Given the description of an element on the screen output the (x, y) to click on. 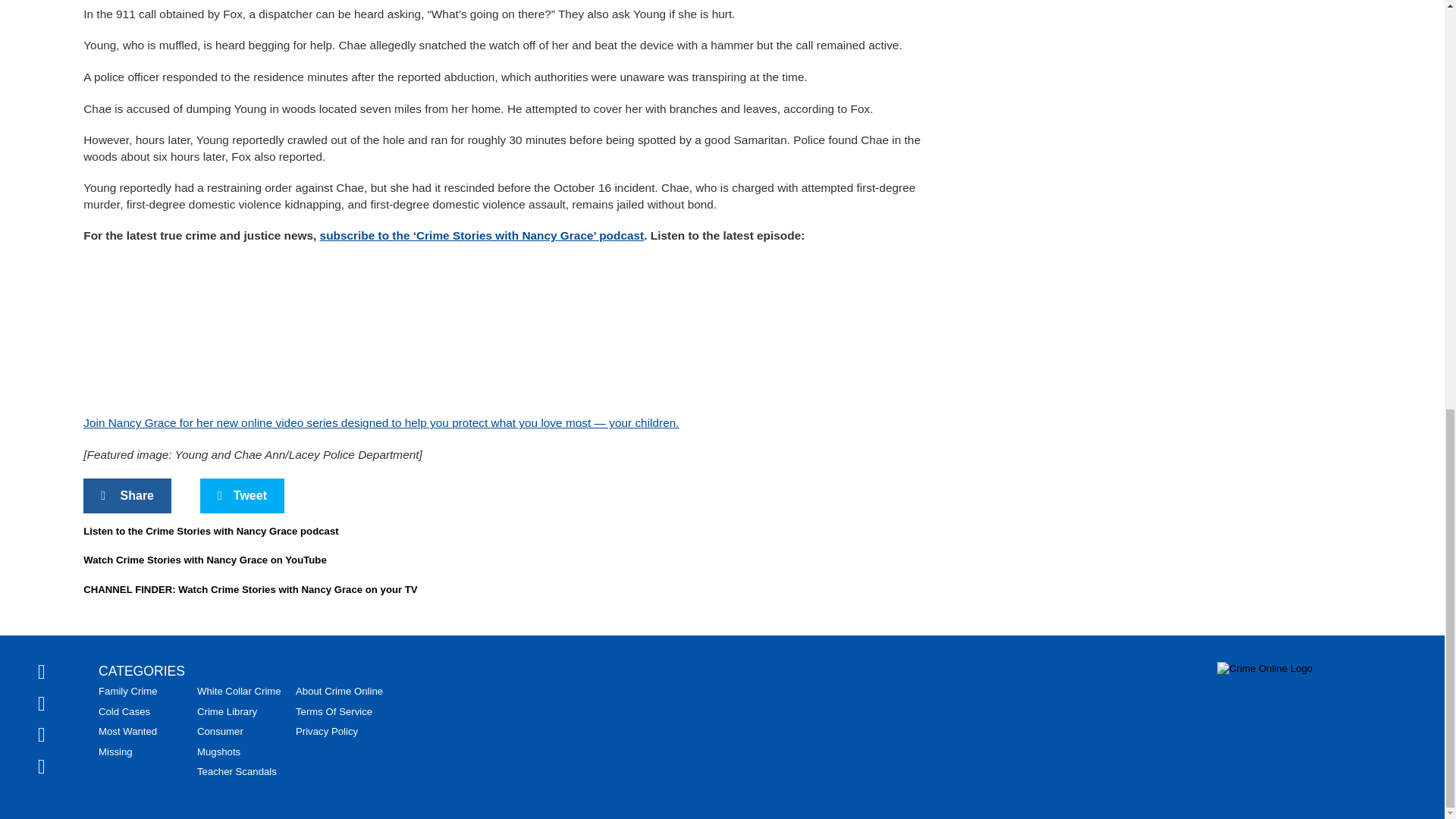
Watch Crime Stories with Nancy Grace on YouTube (204, 559)
Share (126, 495)
Listen to the Crime Stories with Nancy Grace podcast (209, 531)
Tweet (241, 495)
